Given the description of an element on the screen output the (x, y) to click on. 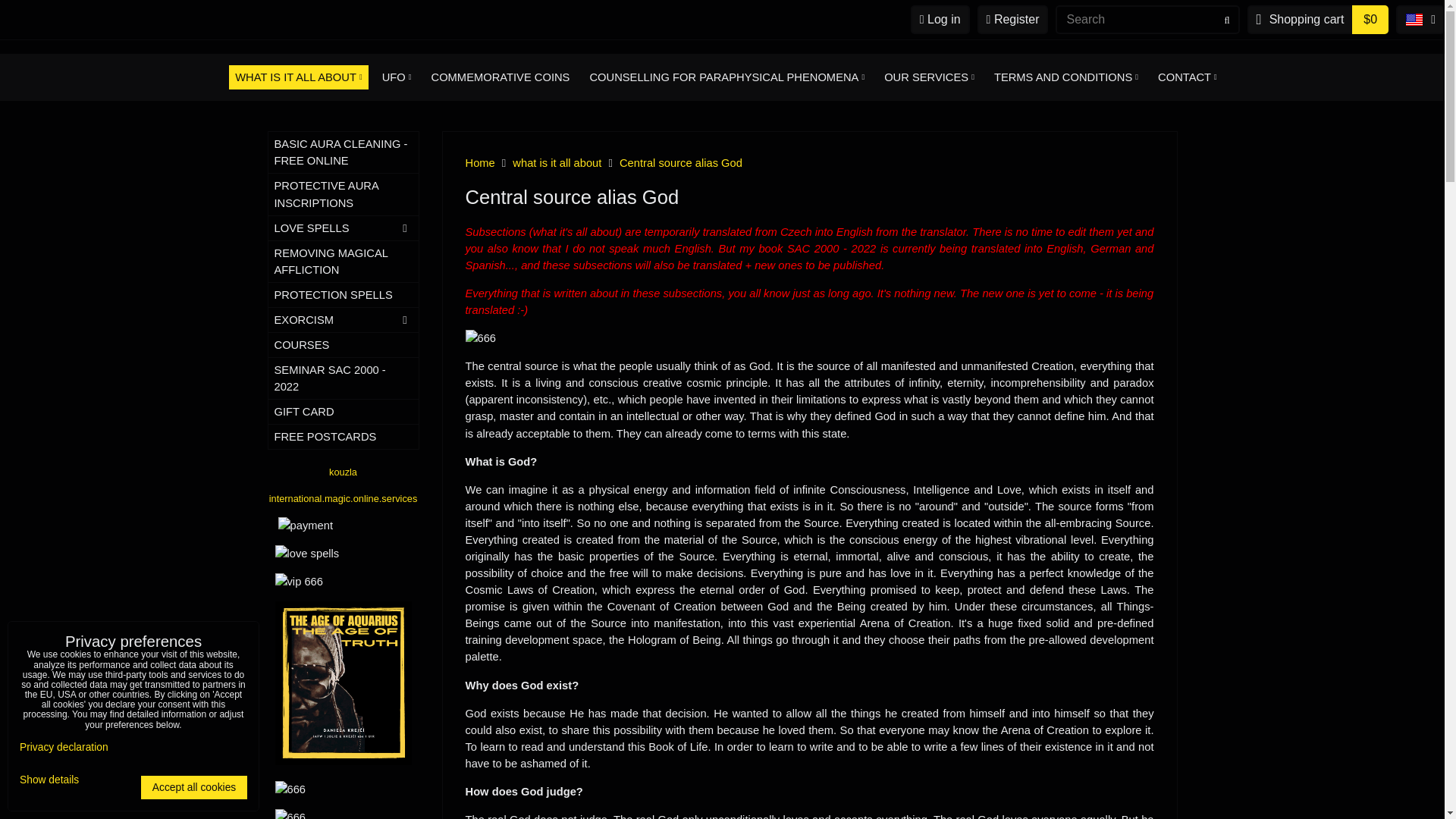
WHAT IS IT ALL ABOUT (298, 77)
Log in (940, 19)
Register (1012, 19)
